Given the description of an element on the screen output the (x, y) to click on. 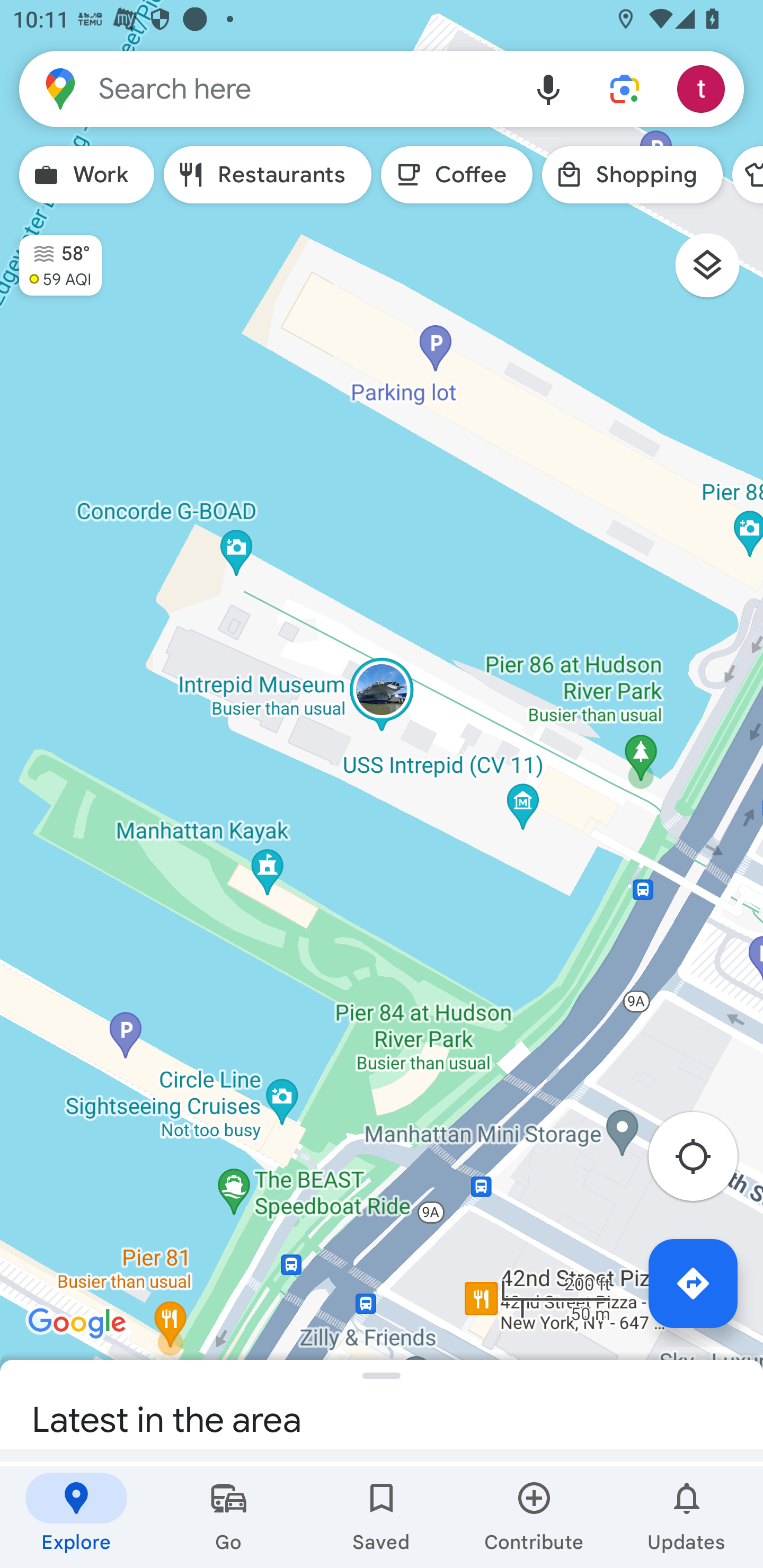
Search here (264, 88)
Voice search (548, 88)
Lens in Maps (624, 88)
Work (86, 174)
Restaurants Search for Restaurants (267, 174)
Coffee Search for Coffee (456, 174)
Shopping Search for Shopping (631, 174)
Mist, 58°, Moderate, 59 AQI 58° 59 AQI (50, 257)
Layers (716, 271)
Re-center map to your location (702, 1161)
Directions (692, 1283)
Go (228, 1517)
Saved (381, 1517)
Contribute (533, 1517)
Updates (686, 1517)
